Given the description of an element on the screen output the (x, y) to click on. 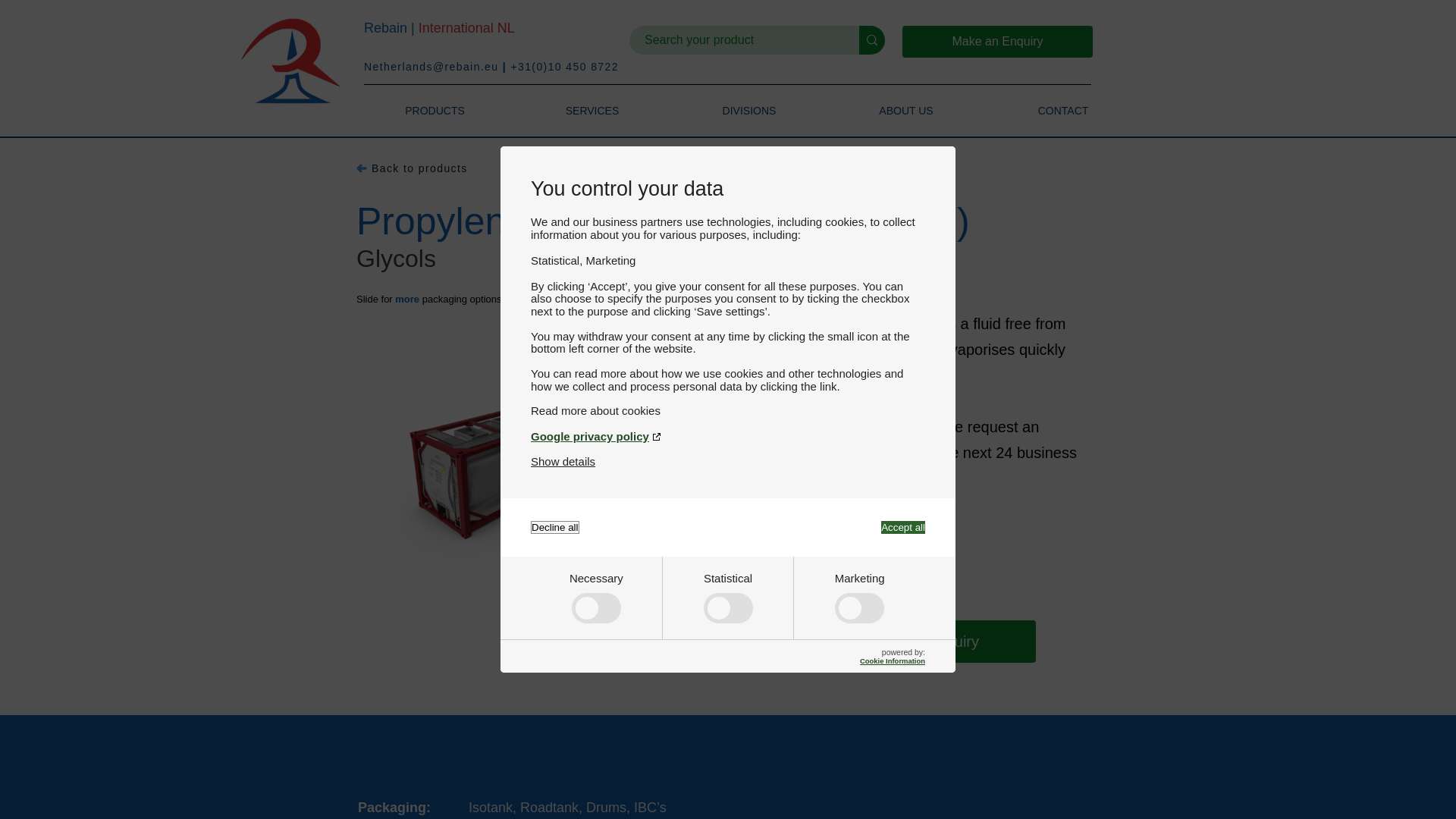
Show details (563, 461)
Accept all (902, 526)
Cookie Information (892, 660)
Read more about cookies (727, 410)
Decline all (555, 526)
Google privacy policy (727, 436)
